Given the description of an element on the screen output the (x, y) to click on. 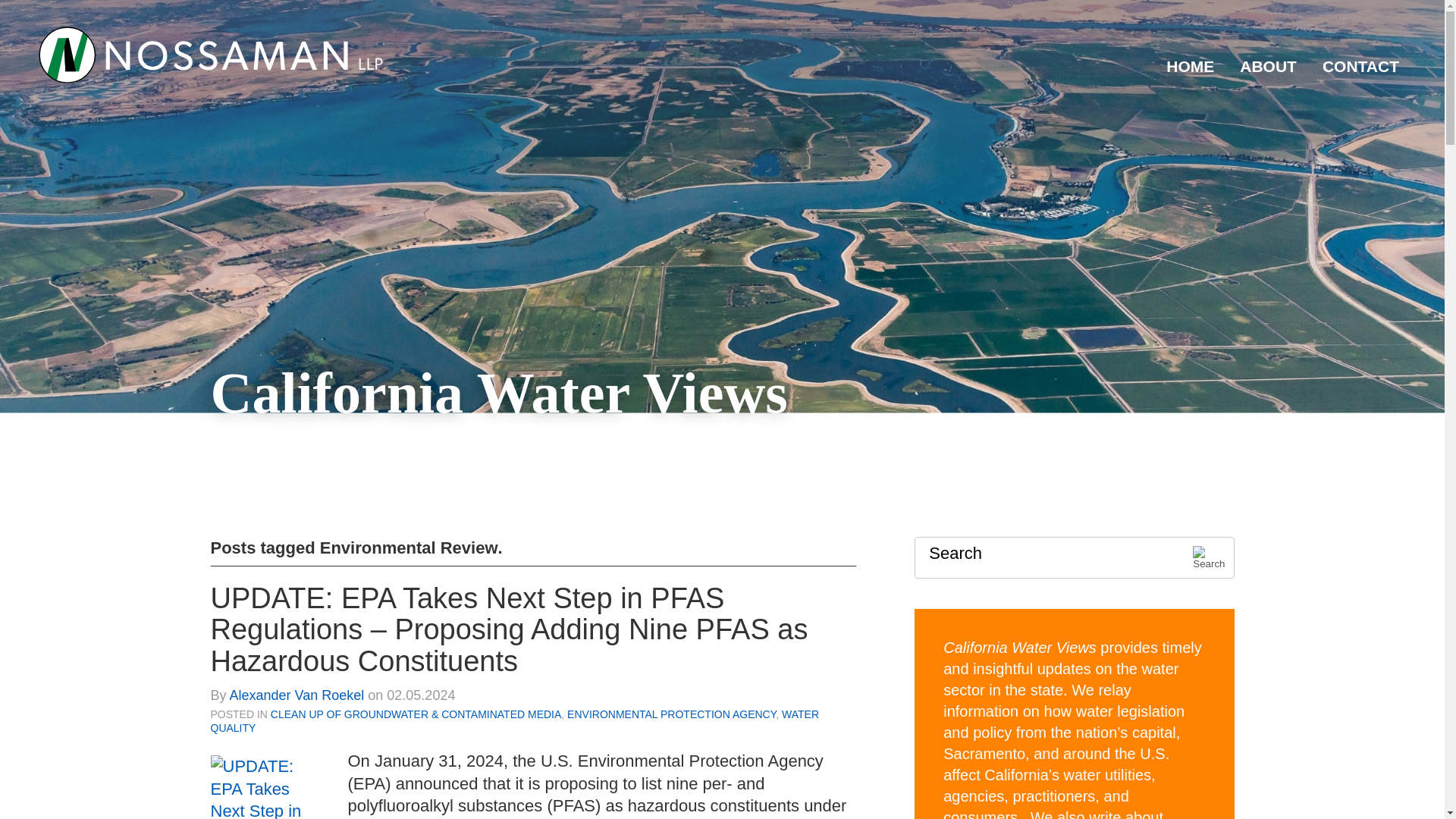
WATER QUALITY (515, 720)
Alexander Van Roekel (297, 694)
ENVIRONMENTAL PROTECTION AGENCY (671, 714)
